Given the description of an element on the screen output the (x, y) to click on. 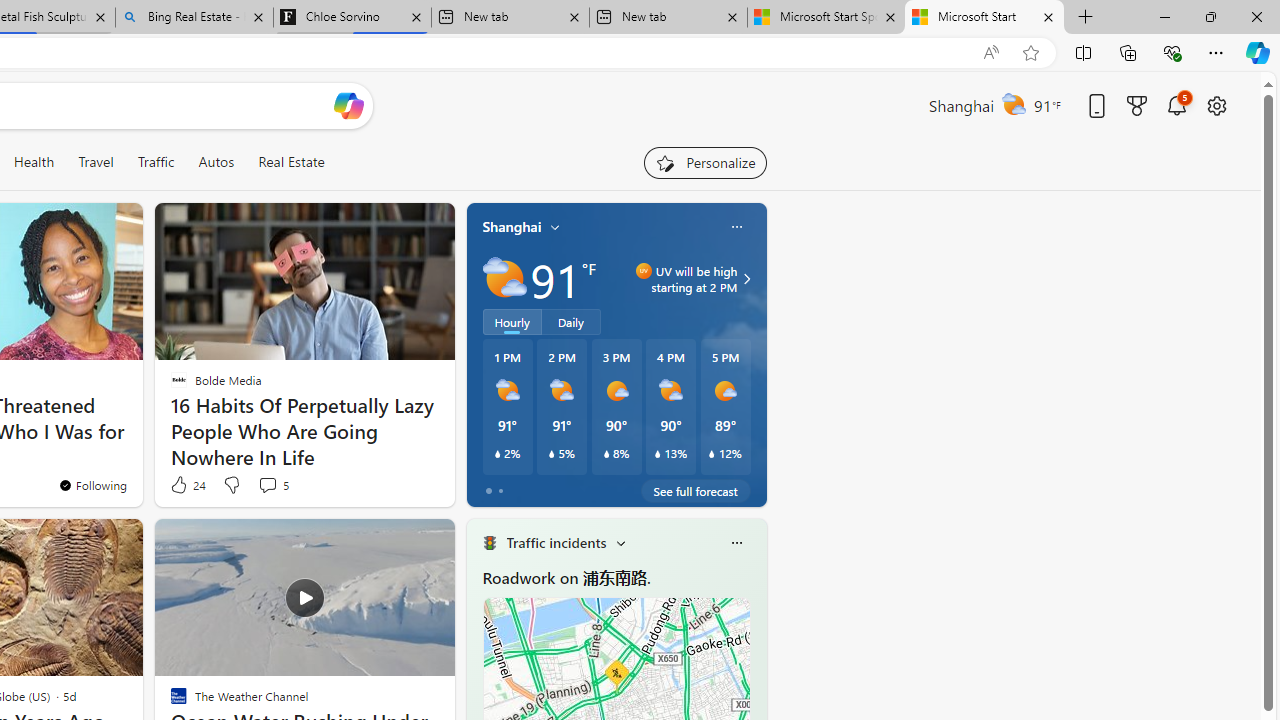
Class: weather-arrow-glyph (746, 278)
Personalize your feed" (704, 162)
Change scenarios (620, 543)
You're following The Weather Channel (390, 490)
Traffic incidents (555, 543)
